Given the description of an element on the screen output the (x, y) to click on. 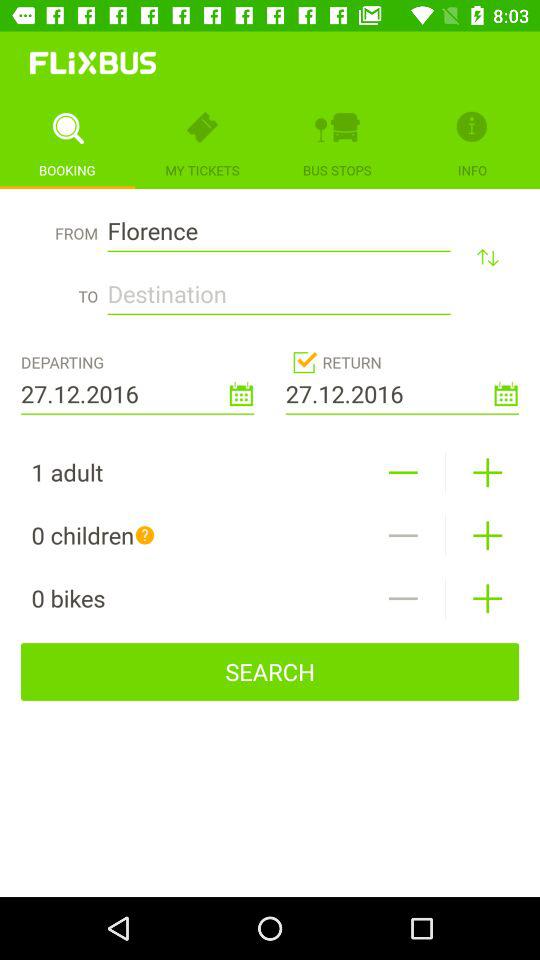
add ticket (487, 472)
